Given the description of an element on the screen output the (x, y) to click on. 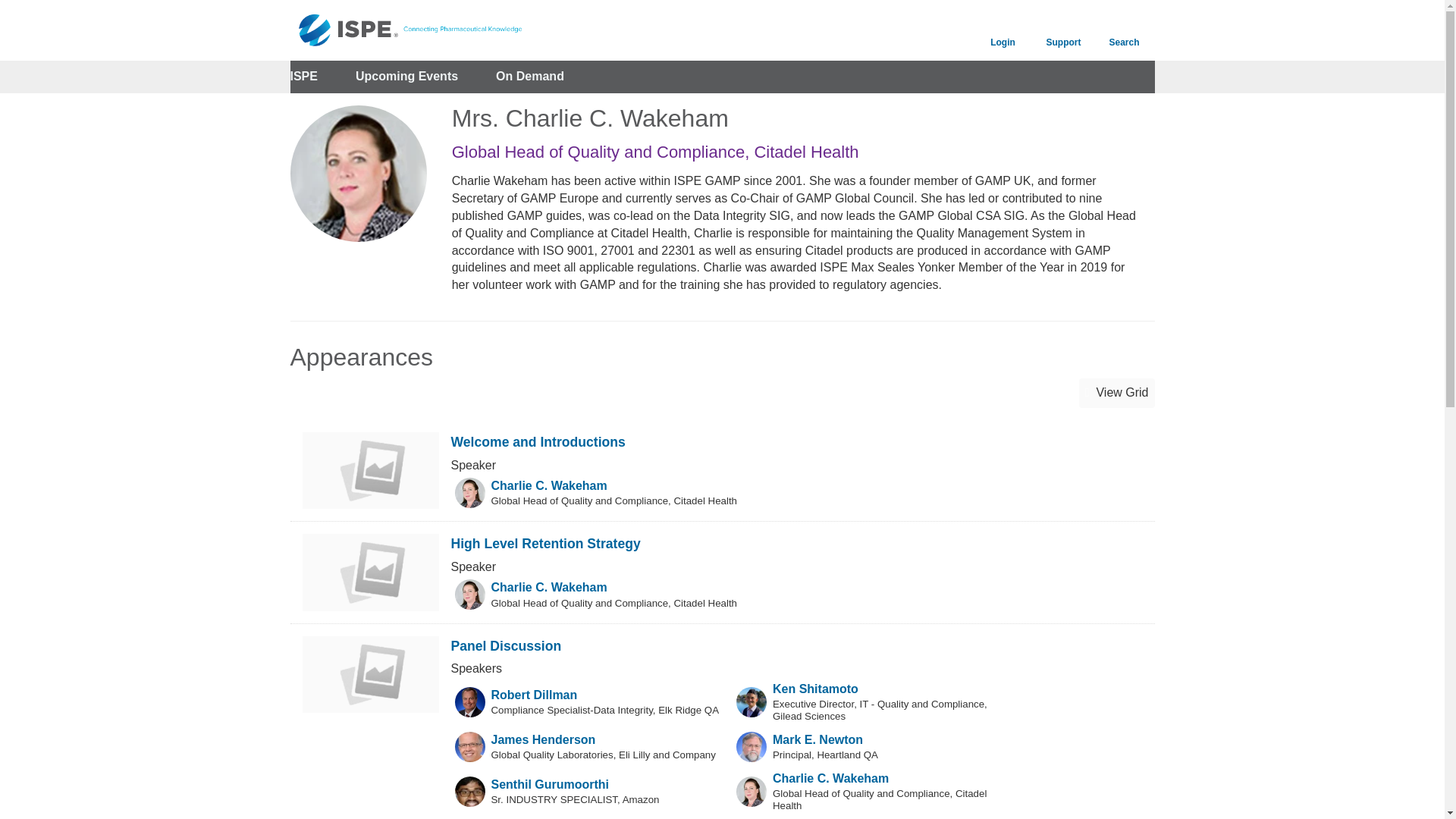
Charlie C. Wakeham (549, 485)
James Henderson (543, 739)
Speaker Image for Charlie Wakeham (751, 791)
Support (1062, 30)
On Demand (530, 76)
Login (1002, 30)
Mark E. Newton (818, 739)
ISPE (303, 76)
Welcome and Introductions (536, 441)
Login (1002, 30)
Speaker Image for Charlie Wakeham (469, 492)
Speaker Image for Charlie Wakeham (469, 594)
Speaker Image for Ken Shitamoto (751, 702)
High Level Retention Strategy (544, 543)
Speaker Image for James Henderson (469, 747)
